Given the description of an element on the screen output the (x, y) to click on. 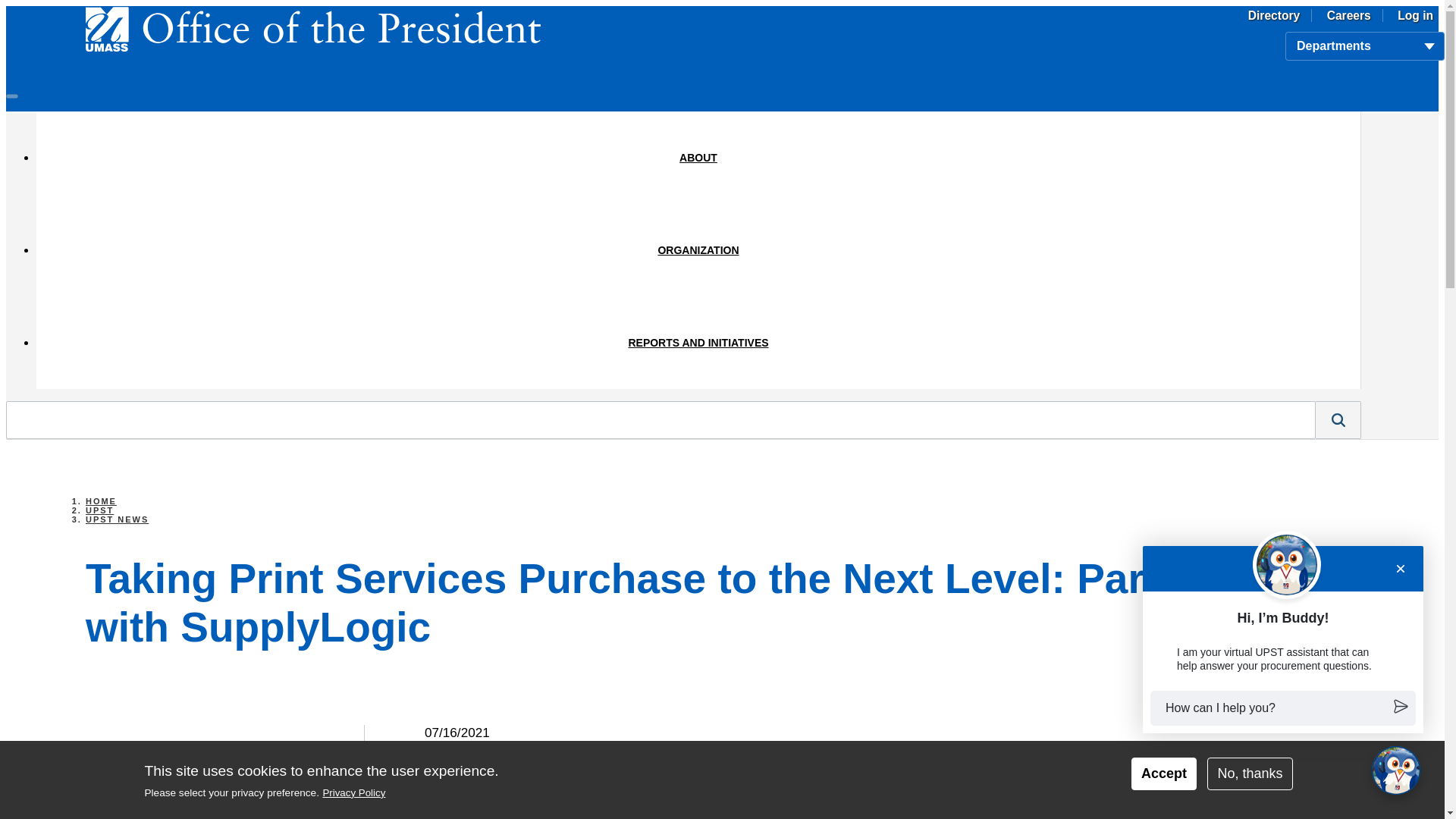
University of Massachusetts Presidents Office (312, 28)
Insert a query. Press enter to send (660, 420)
Careers (1349, 15)
Skip to main content (722, 7)
Privacy Policy (353, 792)
Accept (1163, 773)
Directory (1273, 15)
No, thanks (1249, 773)
